Given the description of an element on the screen output the (x, y) to click on. 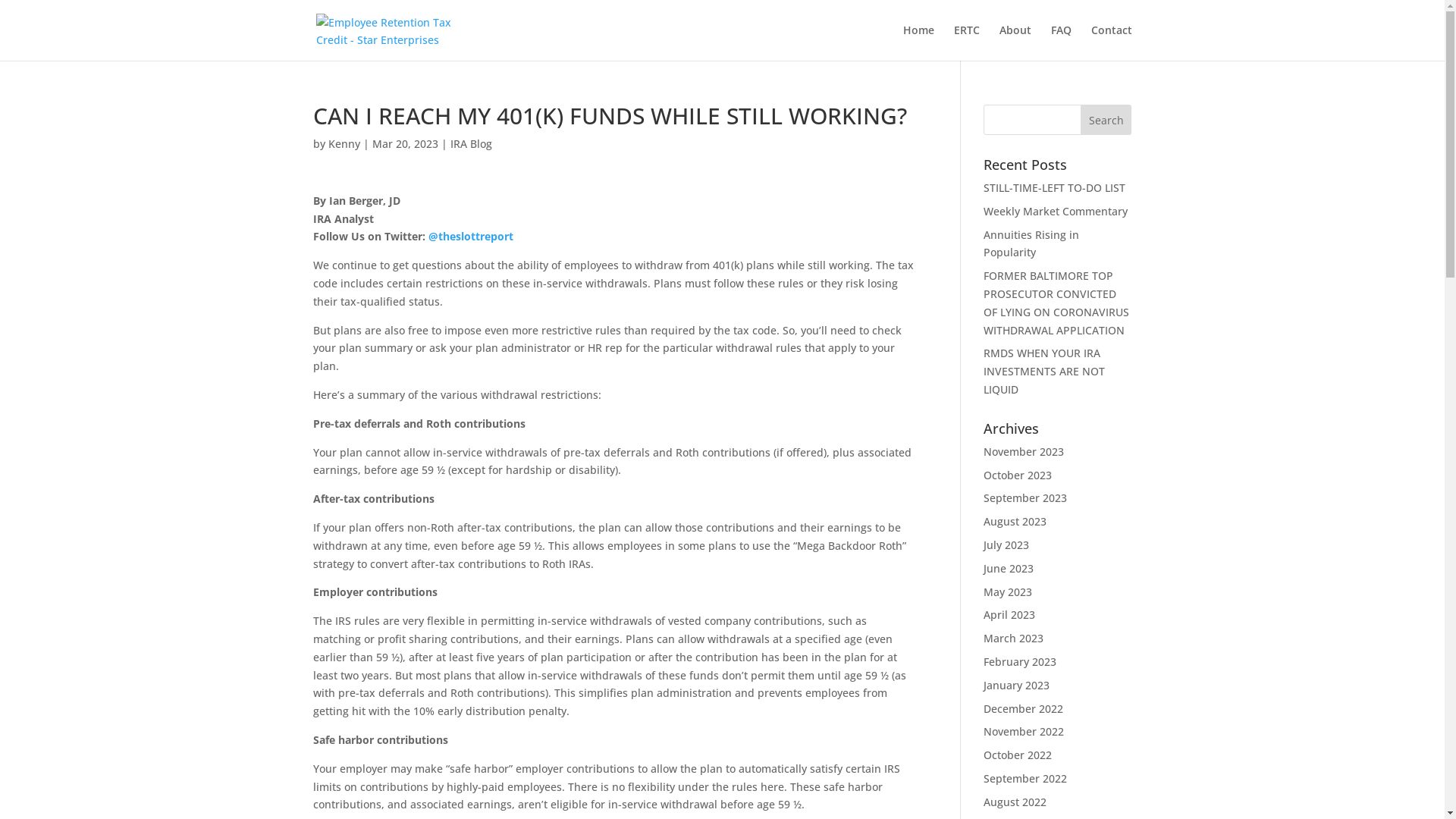
Home Element type: text (917, 42)
@theslottreport Element type: text (469, 236)
ERTC Element type: text (966, 42)
June 2023 Element type: text (1008, 568)
February 2023 Element type: text (1019, 661)
Annuities Rising in Popularity Element type: text (1031, 243)
August 2023 Element type: text (1014, 521)
Kenny Element type: text (343, 143)
STILL-TIME-LEFT TO-DO LIST Element type: text (1054, 187)
Search Element type: text (1106, 119)
November 2023 Element type: text (1023, 451)
FAQ Element type: text (1061, 42)
Weekly Market Commentary Element type: text (1055, 210)
January 2023 Element type: text (1016, 684)
September 2022 Element type: text (1024, 778)
RMDS WHEN YOUR IRA INVESTMENTS ARE NOT LIQUID Element type: text (1043, 370)
Contact Element type: text (1110, 42)
October 2022 Element type: text (1017, 754)
May 2023 Element type: text (1007, 591)
October 2023 Element type: text (1017, 474)
August 2022 Element type: text (1014, 801)
November 2022 Element type: text (1023, 731)
April 2023 Element type: text (1009, 614)
About Element type: text (1015, 42)
March 2023 Element type: text (1013, 637)
July 2023 Element type: text (1006, 544)
IRA Blog Element type: text (471, 143)
September 2023 Element type: text (1024, 497)
December 2022 Element type: text (1023, 708)
